Given the description of an element on the screen output the (x, y) to click on. 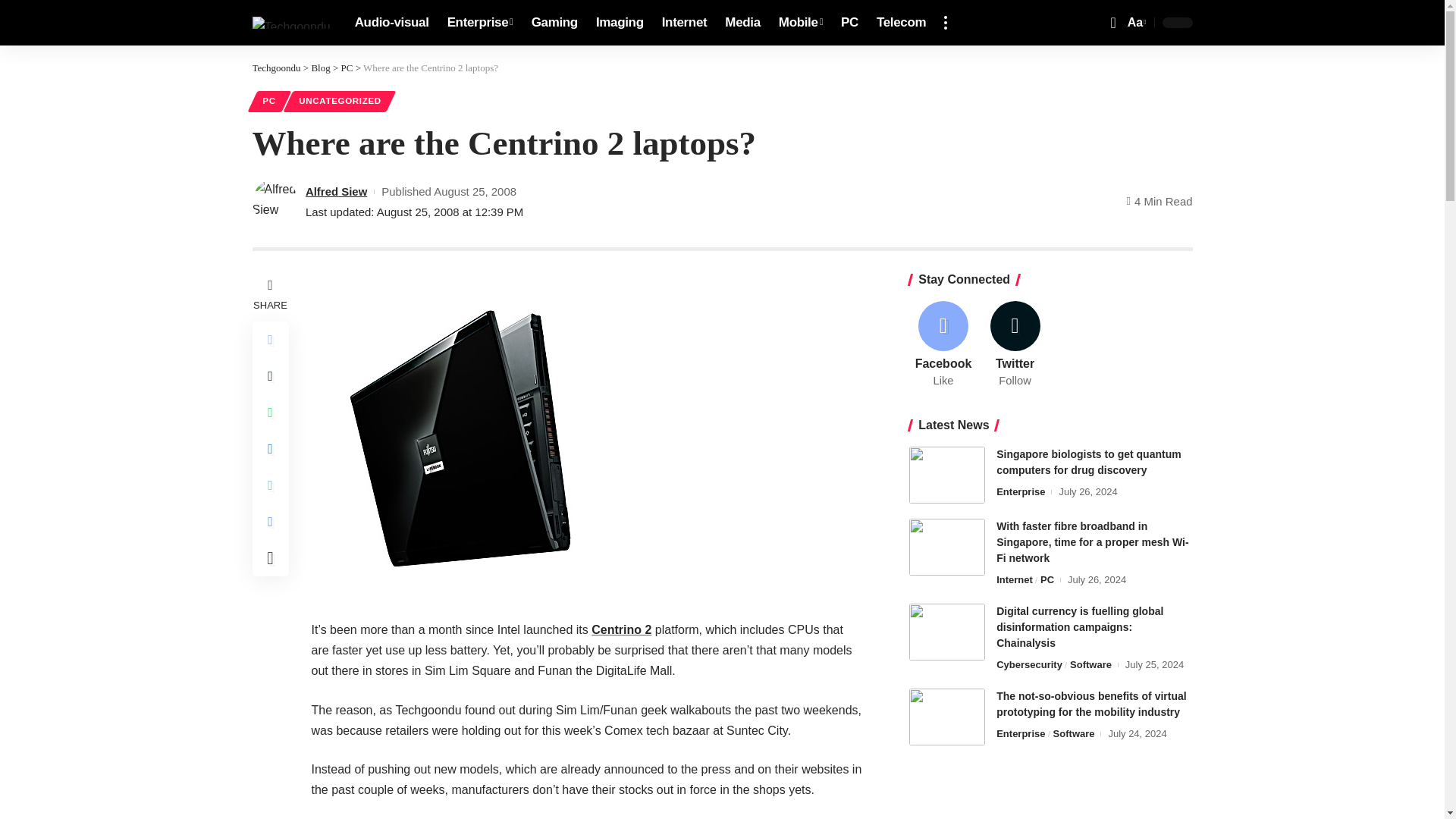
Imaging (619, 22)
PC (849, 22)
Gaming (554, 22)
Go to the PC Category archives. (346, 67)
Audio-visual (392, 22)
Enterprise (480, 22)
Mobile (800, 22)
Go to Techgoondu. (275, 67)
Media (742, 22)
Internet (684, 22)
Go to Blog. (320, 67)
